Given the description of an element on the screen output the (x, y) to click on. 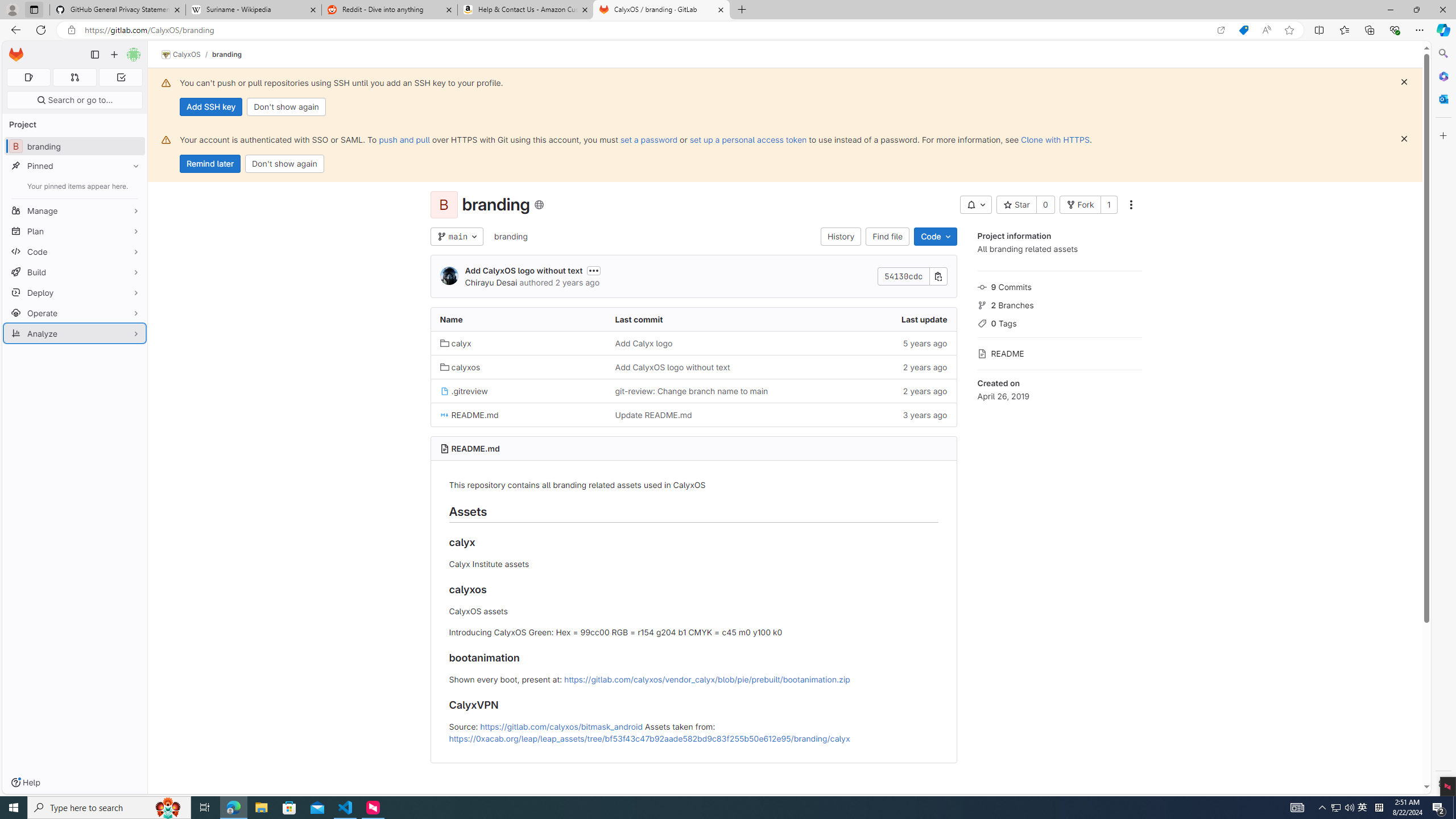
Last commit (693, 319)
Chirayu Desai (490, 282)
 Star (1015, 204)
Class: s16 gl-alert-icon gl-alert-icon-no-title (165, 139)
git-review: Change branch name to main (691, 390)
Add SSH key (211, 106)
1 (1108, 204)
Copy commit SHA (937, 275)
Build (74, 271)
Class: tree-item (693, 414)
README (1058, 352)
0 Tags (1058, 322)
calyxos (517, 366)
